Given the description of an element on the screen output the (x, y) to click on. 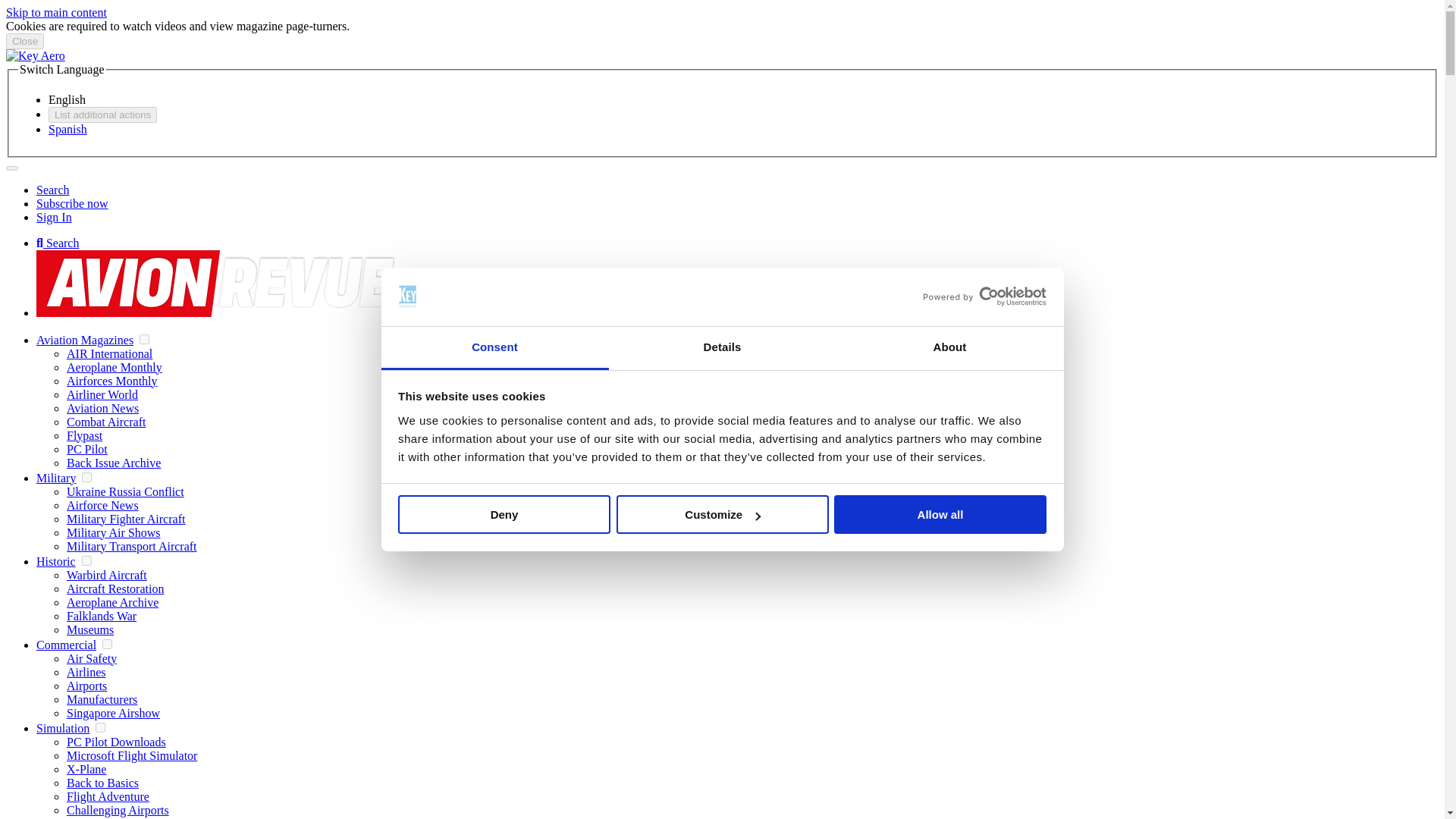
Consent (494, 348)
on (86, 560)
Details (721, 348)
About (948, 348)
on (106, 644)
on (100, 727)
on (86, 477)
on (144, 338)
